Given the description of an element on the screen output the (x, y) to click on. 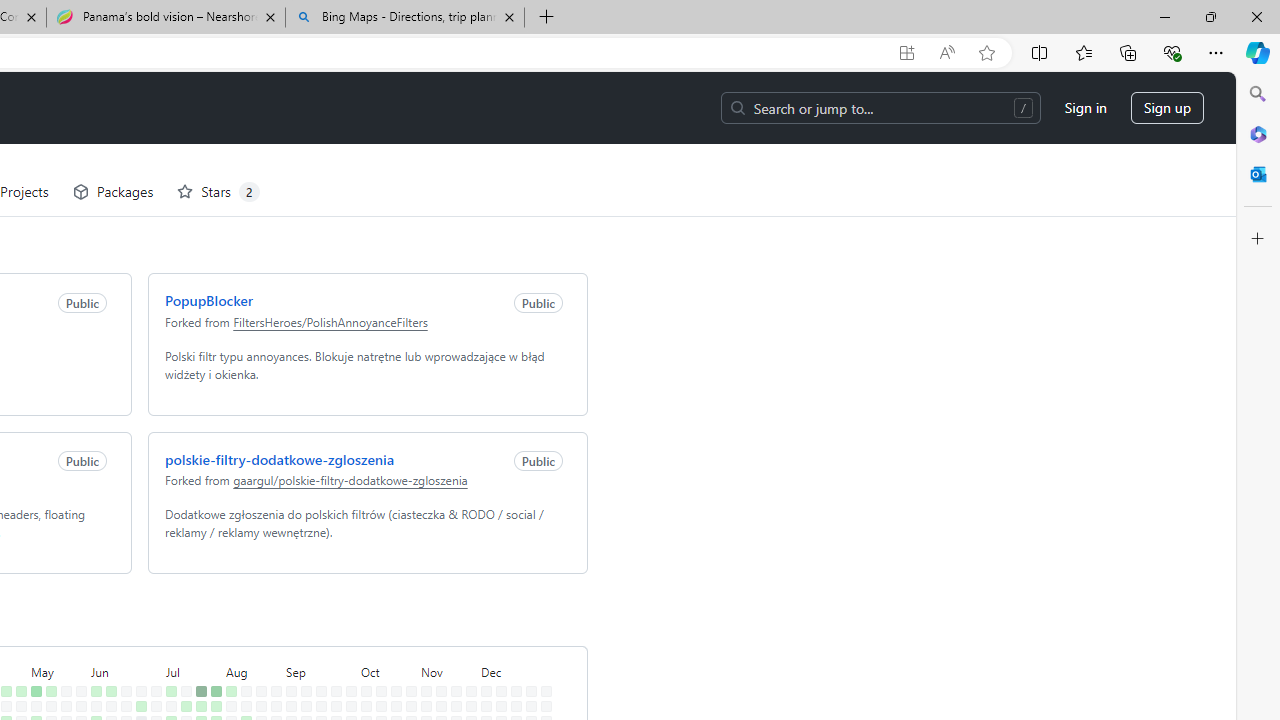
No contributions on August 12th. (242, 634)
No contributions on May 14th. (47, 649)
No contributions on May 9th. (32, 678)
No contributions on December 12th. (497, 678)
No contributions on October 9th. (362, 664)
Stars 2 (214, 120)
No contributions on June 5th. (92, 664)
No contributions on November 27th. (467, 664)
No contributions on May 26th. (77, 619)
No contributions on September 13th. (302, 694)
No contributions on November 26th. (467, 649)
No contributions on October 15th. (377, 649)
